Given the description of an element on the screen output the (x, y) to click on. 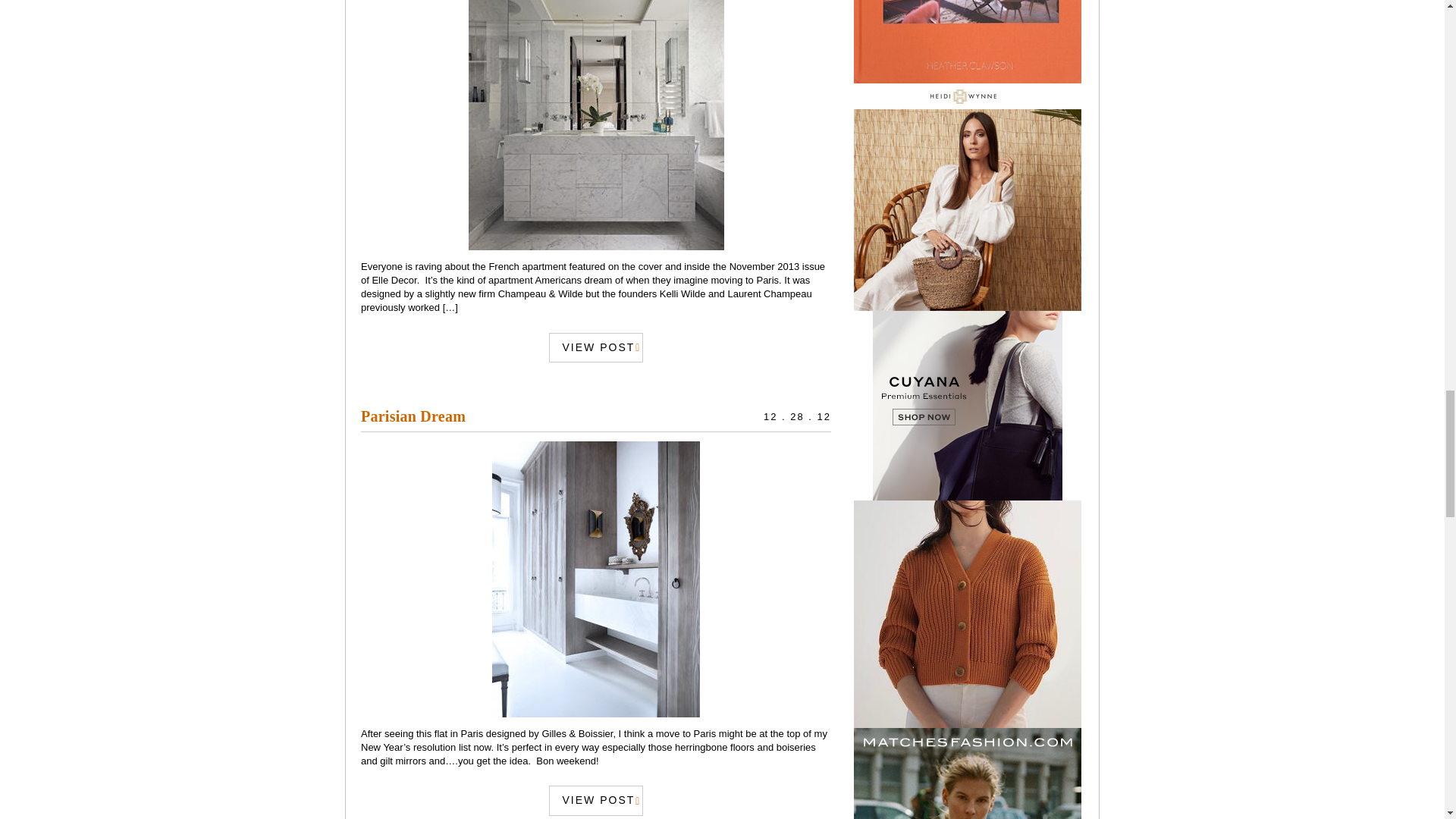
VIEW POST (595, 347)
VIEW POST (595, 799)
Parisian Dream (413, 416)
View This Post (596, 125)
